Given the description of an element on the screen output the (x, y) to click on. 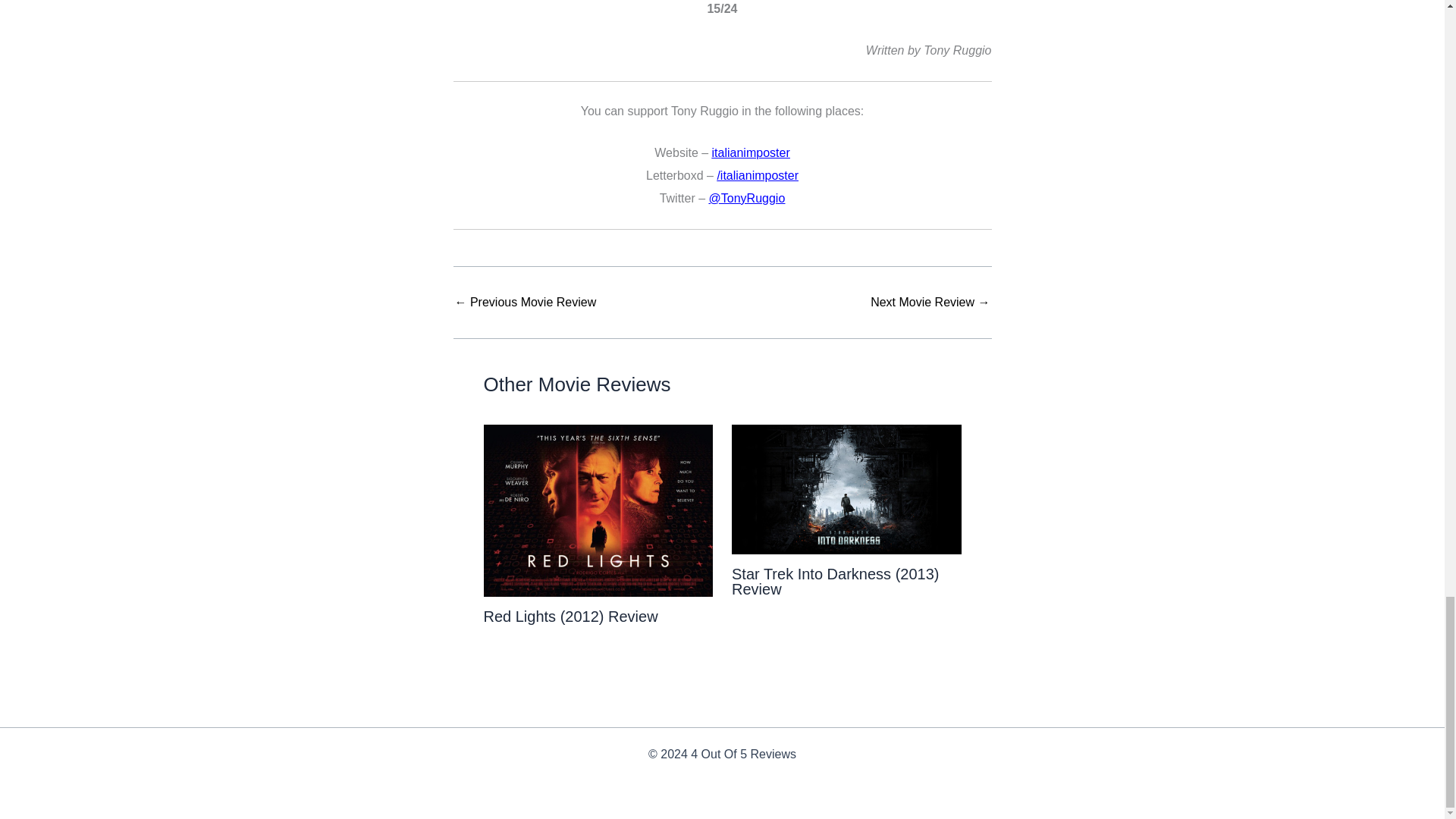
italianimposter (750, 152)
